Given the description of an element on the screen output the (x, y) to click on. 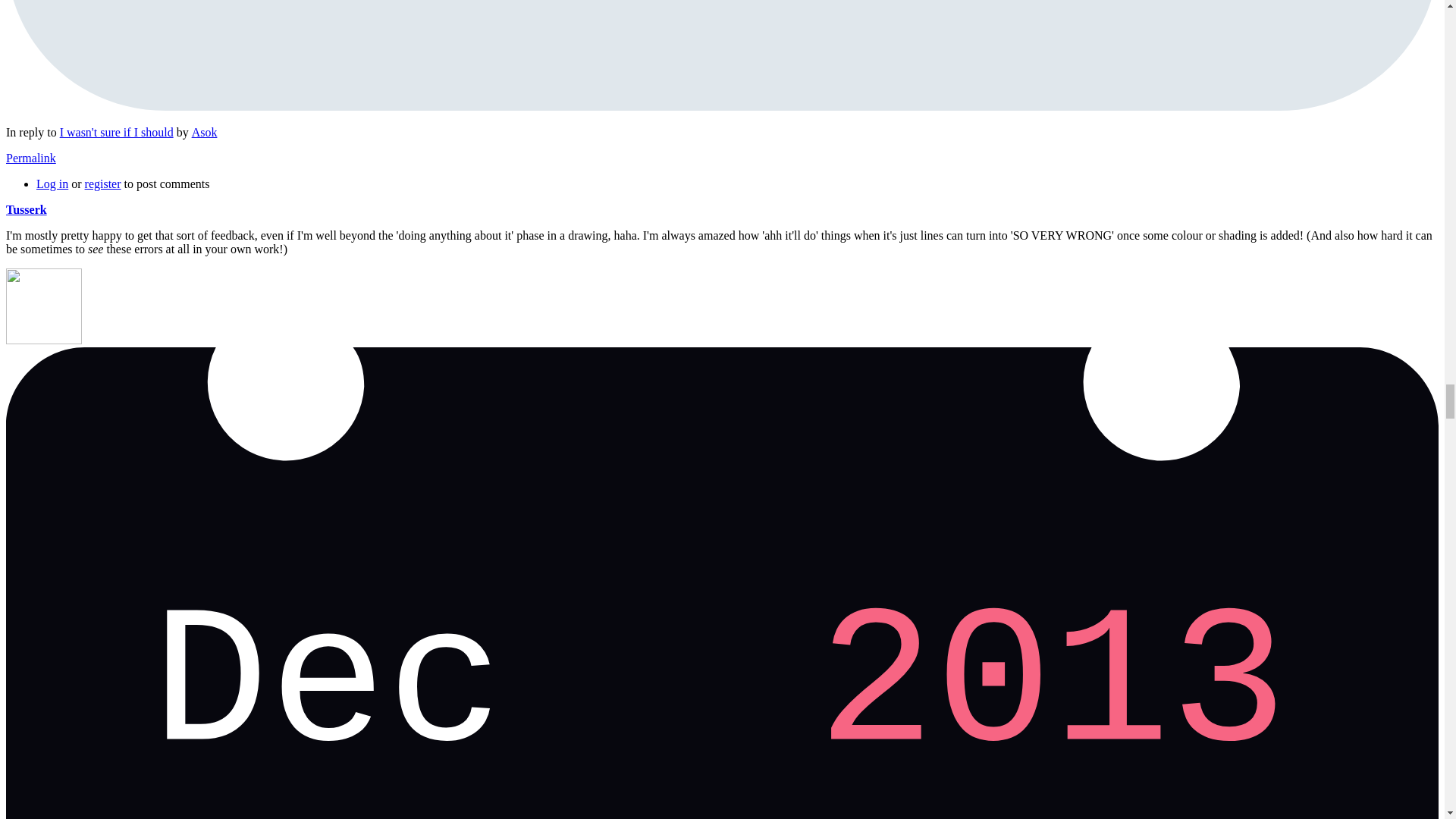
View user profile. (25, 209)
Asok (204, 132)
I wasn't sure if I should (116, 132)
View user profile. (204, 132)
